Given the description of an element on the screen output the (x, y) to click on. 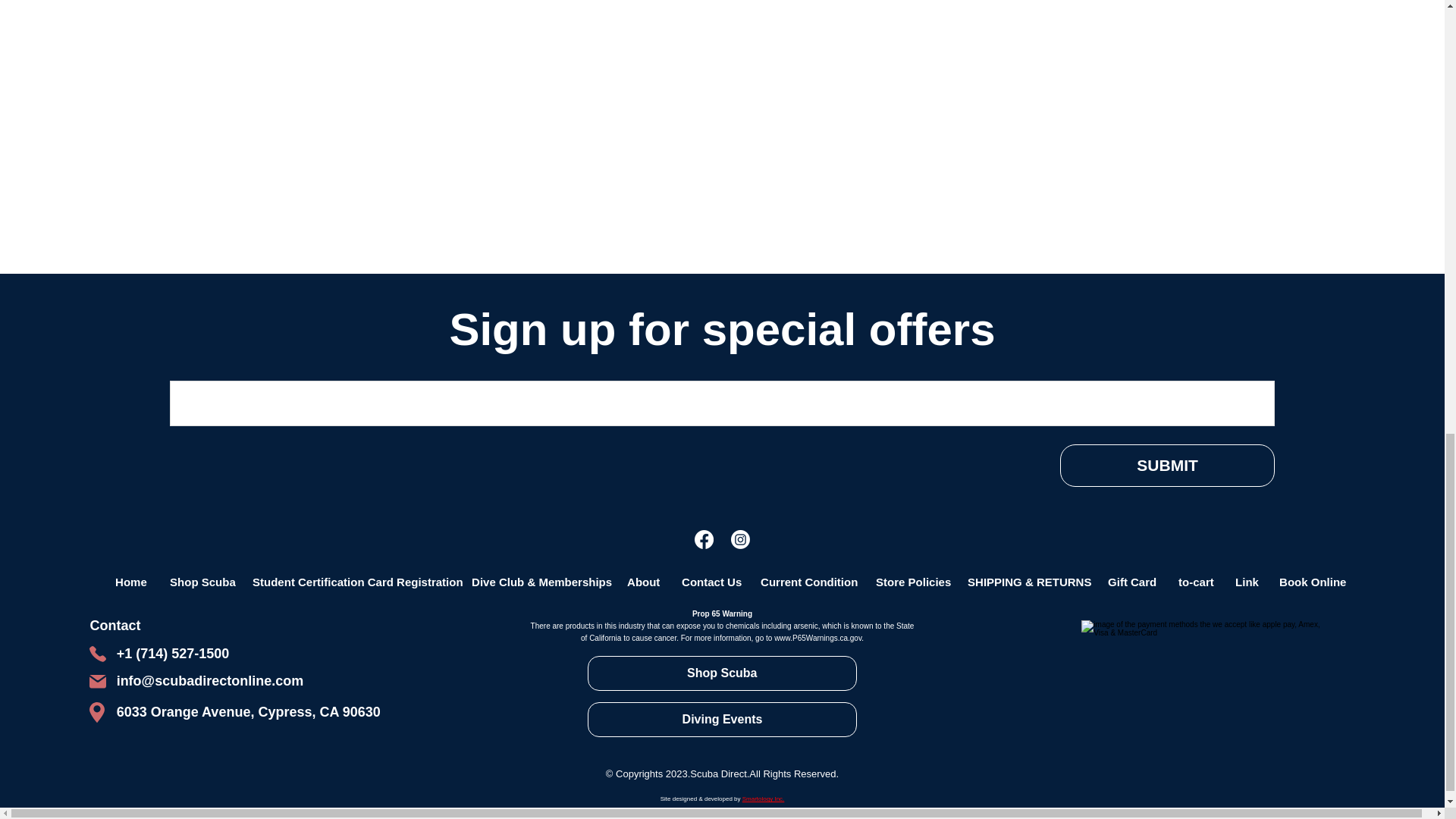
to-cart (1194, 581)
About (641, 581)
www.P65Warnings.ca.gov (817, 637)
Diving Events (722, 719)
Store Policies (909, 581)
Shop Scuba (198, 581)
Smartology Inc. (763, 798)
SUBMIT (1167, 465)
Shop Scuba (722, 673)
Student Certification Card Registration (350, 581)
Contact Us (708, 581)
6033 Orange Avenue, Cypress, CA 90630 (248, 711)
Current Condition (805, 581)
Home (130, 581)
Book Online (1310, 581)
